Given the description of an element on the screen output the (x, y) to click on. 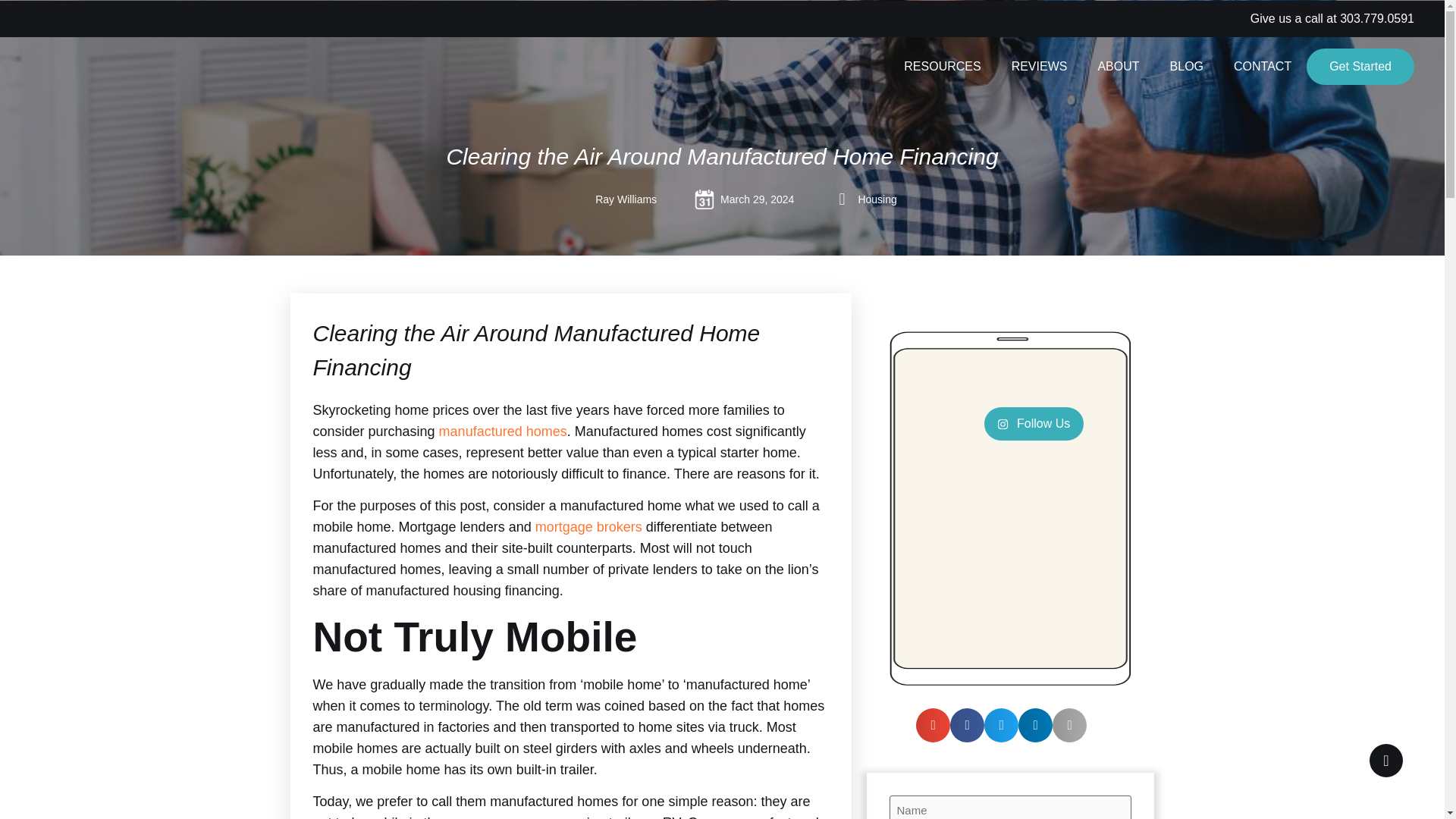
REVIEWS (1039, 66)
ABOUT (1117, 66)
Get Started (1359, 66)
BLOG (1186, 66)
CONTACT (1262, 66)
RESOURCES (941, 66)
303.779.0591 (1376, 18)
